Given the description of an element on the screen output the (x, y) to click on. 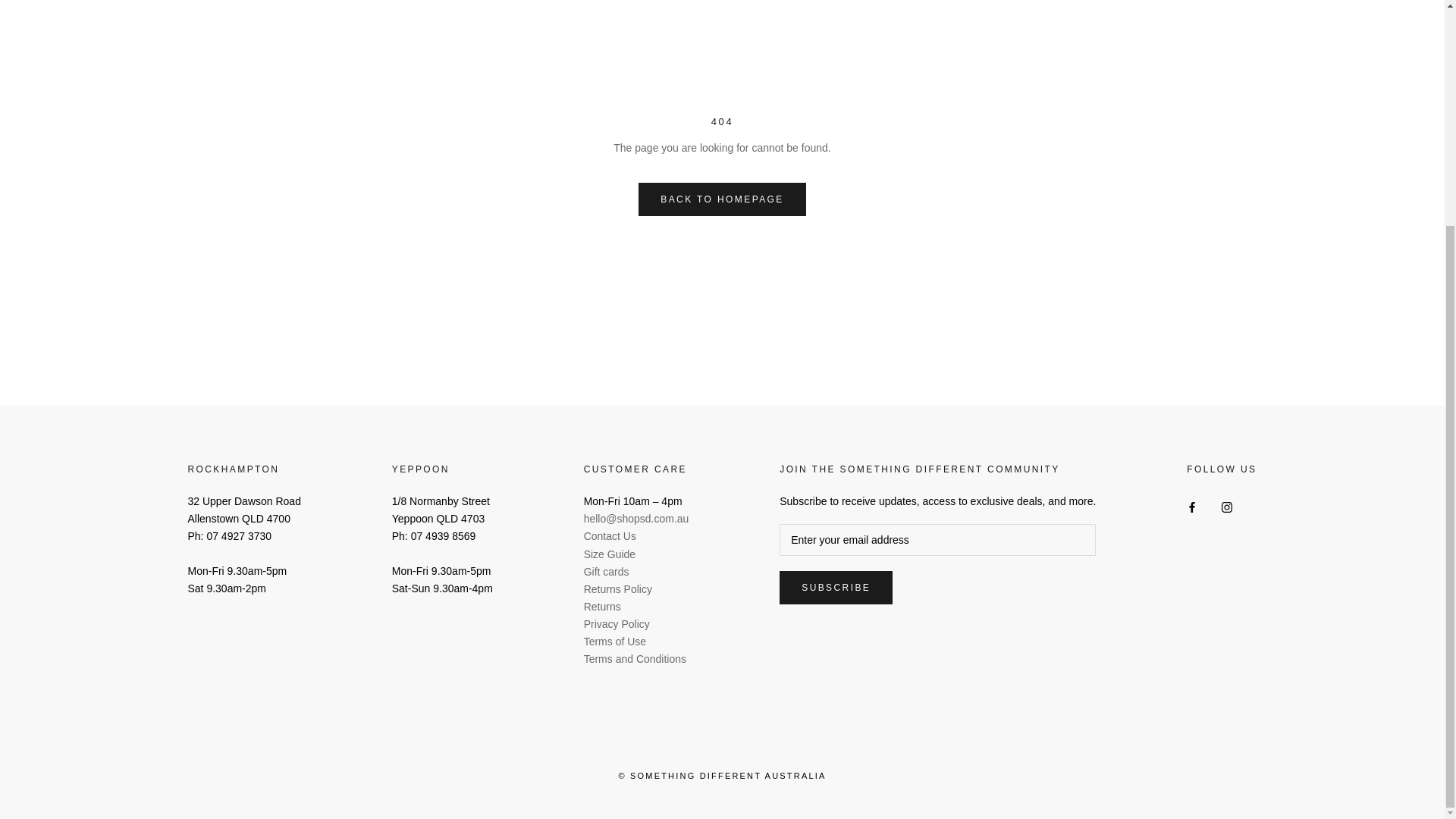
TERMS AND CONDITIONS (634, 658)
Size Guide (608, 553)
Gift Cards (605, 571)
Terms of Service (614, 641)
Refund Policy (617, 589)
Contact Us (609, 535)
Email Customer Service (635, 518)
Privacy Policy (616, 623)
